Given the description of an element on the screen output the (x, y) to click on. 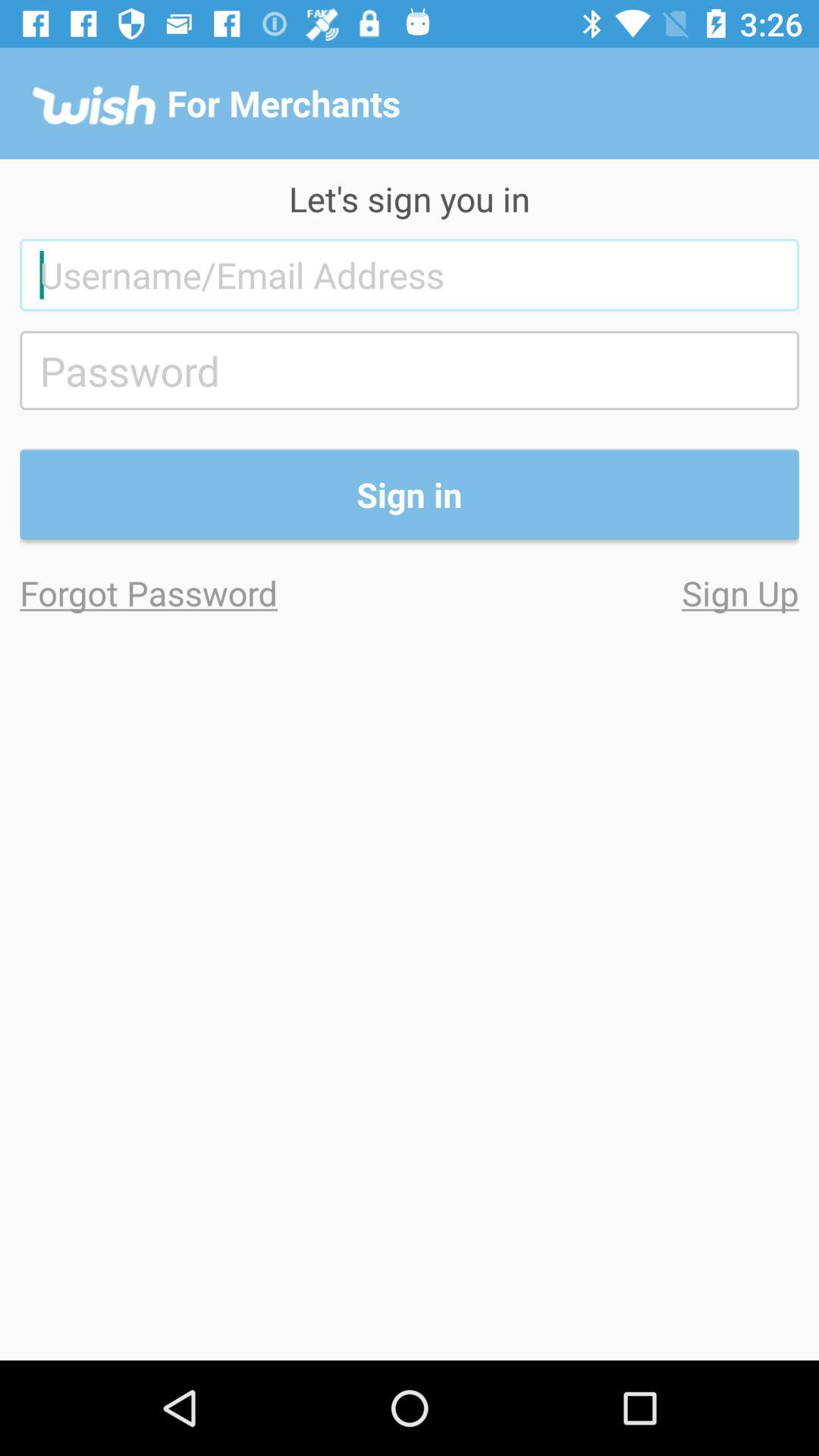
click the item to the left of sign up icon (214, 592)
